Given the description of an element on the screen output the (x, y) to click on. 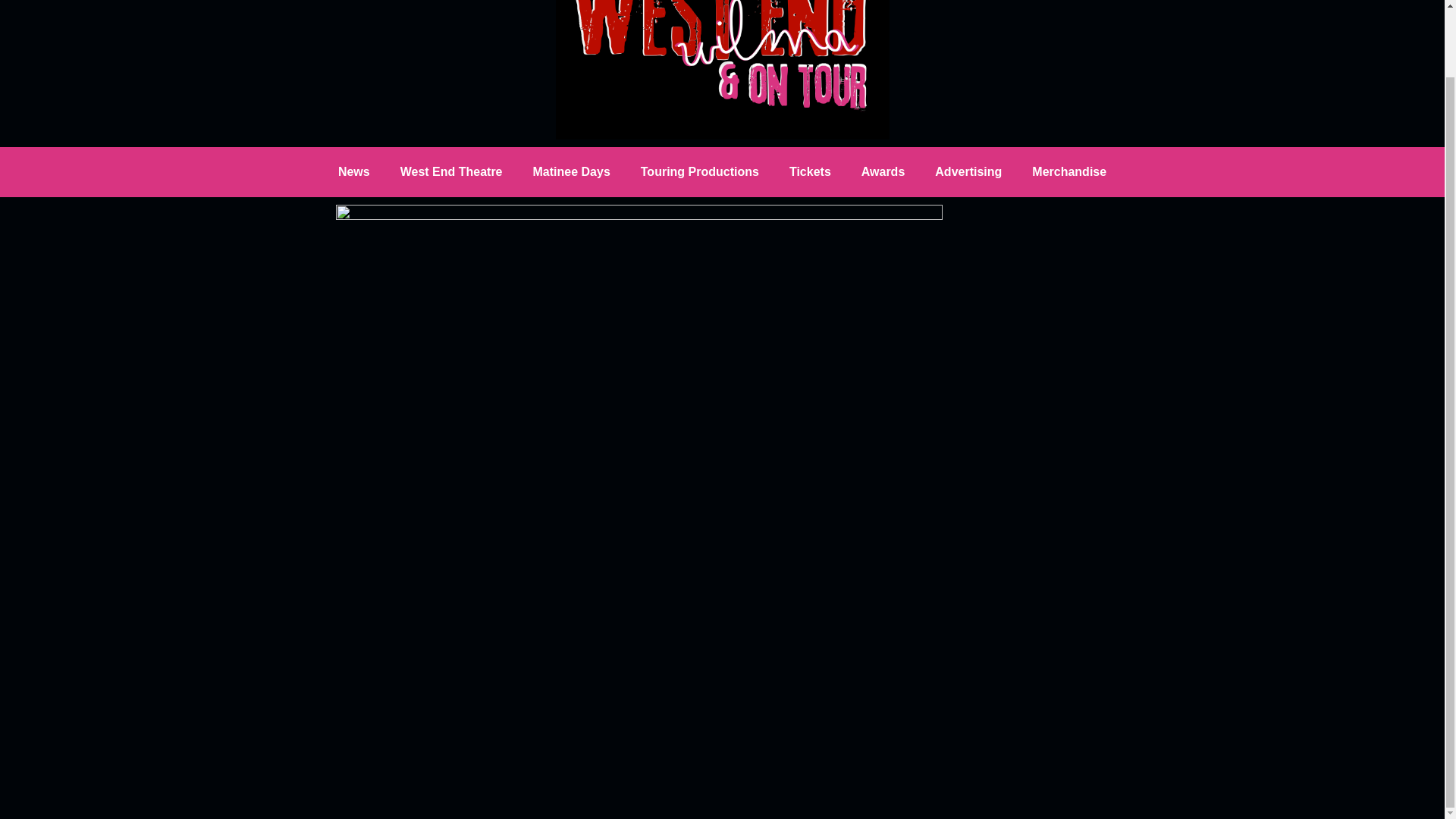
Advertising (968, 171)
Merchandise (1068, 171)
West End Theatre (451, 171)
Tickets (809, 171)
Matinee Days (572, 171)
News (354, 171)
Awards (882, 171)
Touring Productions (700, 171)
